Given the description of an element on the screen output the (x, y) to click on. 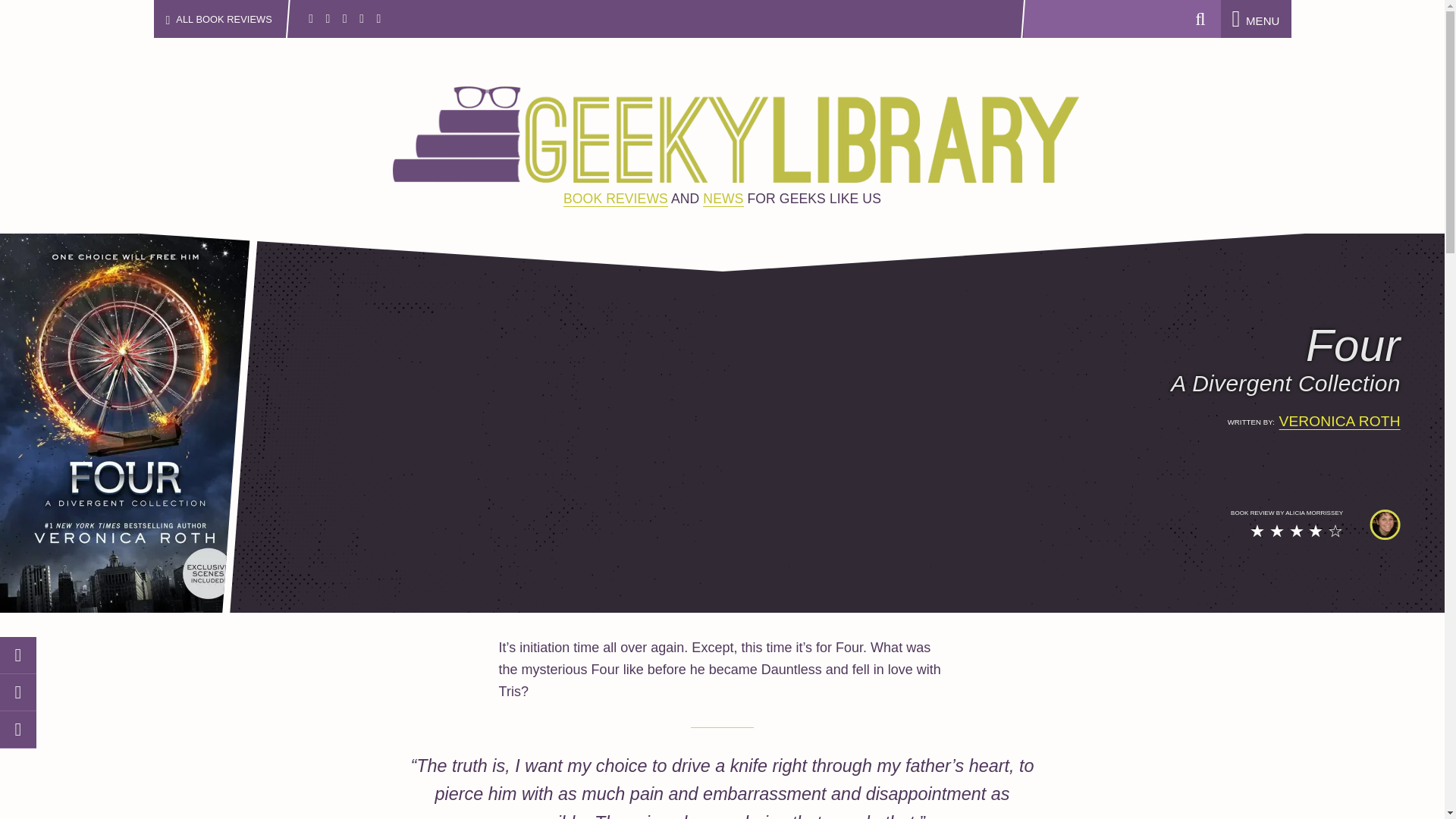
ALL BOOK REVIEWS (230, 18)
All books by Veronica Roth we've reviewed (1339, 421)
Click to share on Twitter (18, 655)
VERONICA ROTH (1339, 421)
MENU (1256, 20)
Click to share on Facebook (18, 692)
BOOK REVIEWS (615, 198)
NEWS (722, 198)
